Given the description of an element on the screen output the (x, y) to click on. 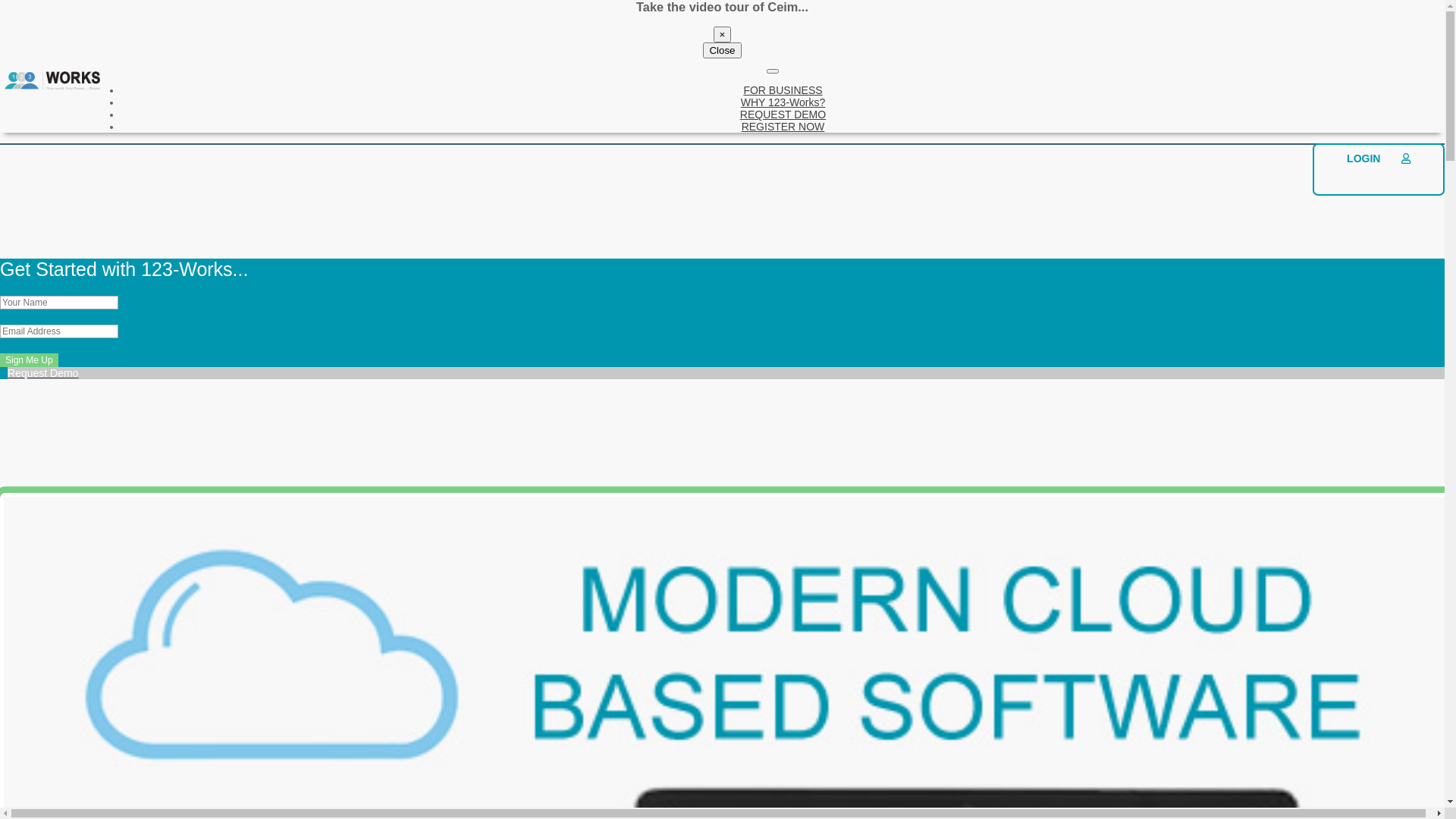
Toggle navigation Element type: text (772, 71)
FOR BUSINESS Element type: text (782, 90)
Sign Me Up Element type: text (29, 360)
Close Element type: text (721, 50)
REGISTER NOW Element type: text (783, 126)
Request Demo Element type: text (722, 379)
REQUEST DEMO Element type: text (782, 114)
WHY 123-Works? Element type: text (782, 102)
